Given the description of an element on the screen output the (x, y) to click on. 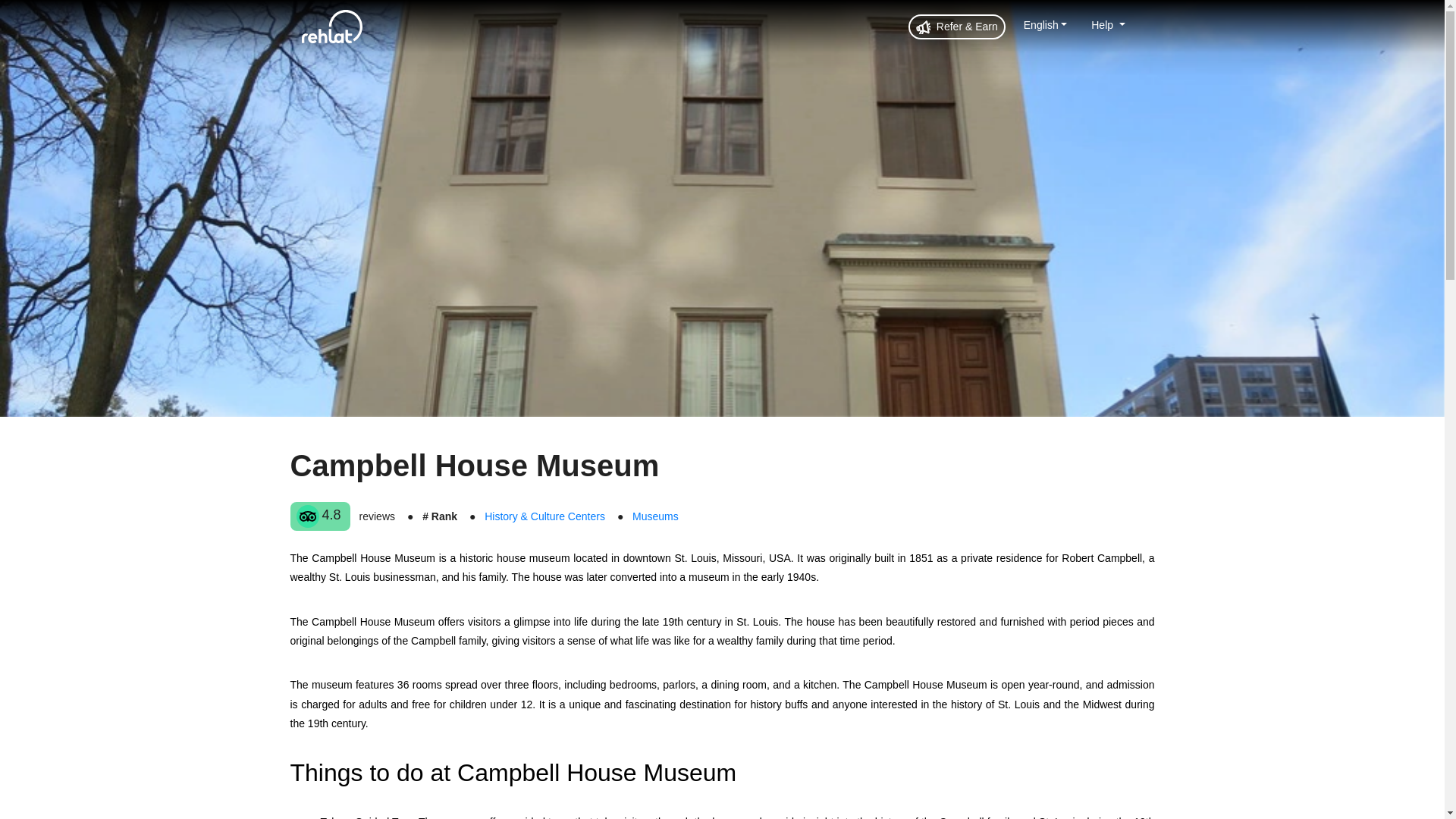
Museums (654, 516)
English (1045, 24)
Help (1107, 24)
